Given the description of an element on the screen output the (x, y) to click on. 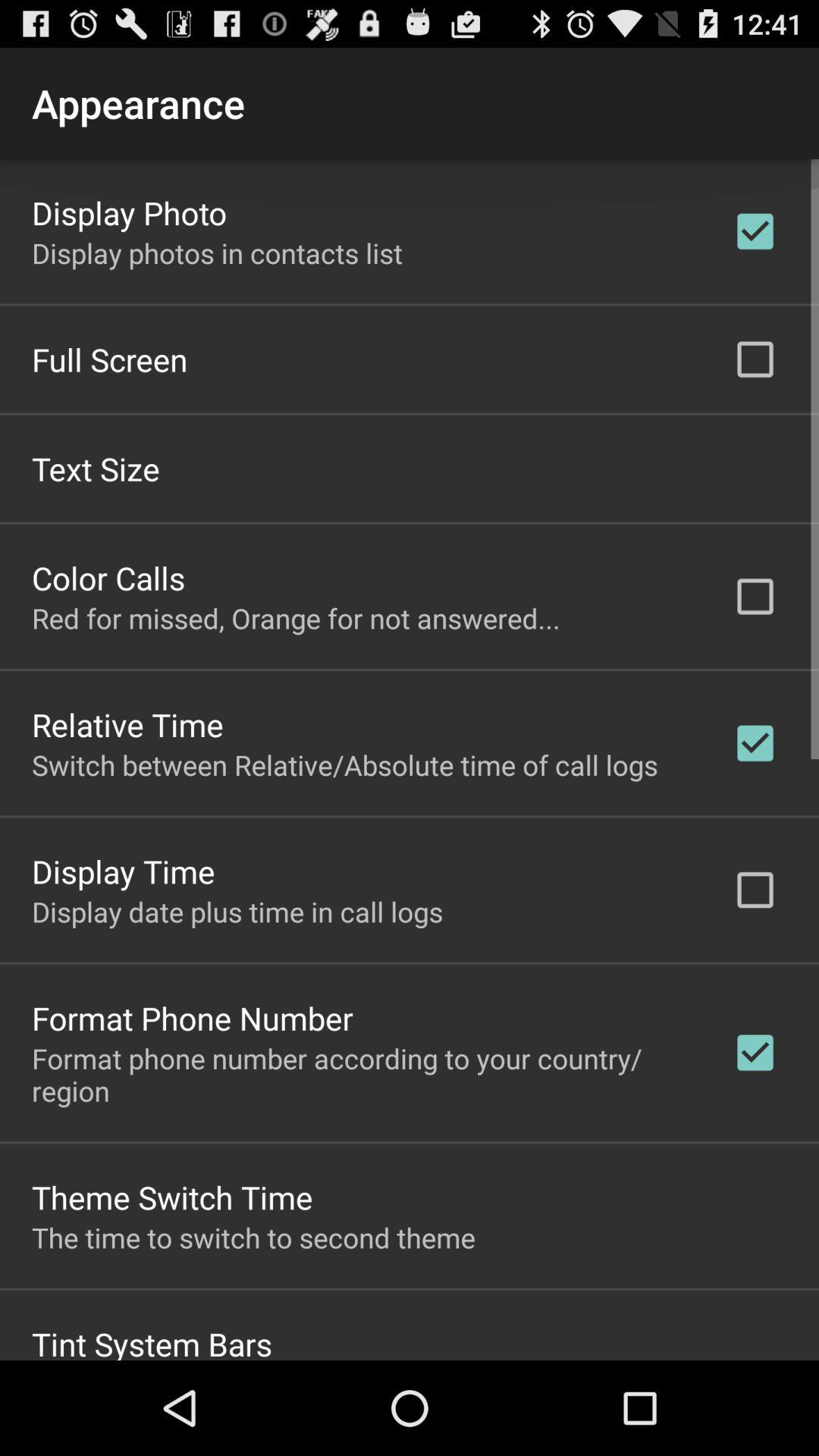
turn on item below the full screen icon (95, 467)
